Given the description of an element on the screen output the (x, y) to click on. 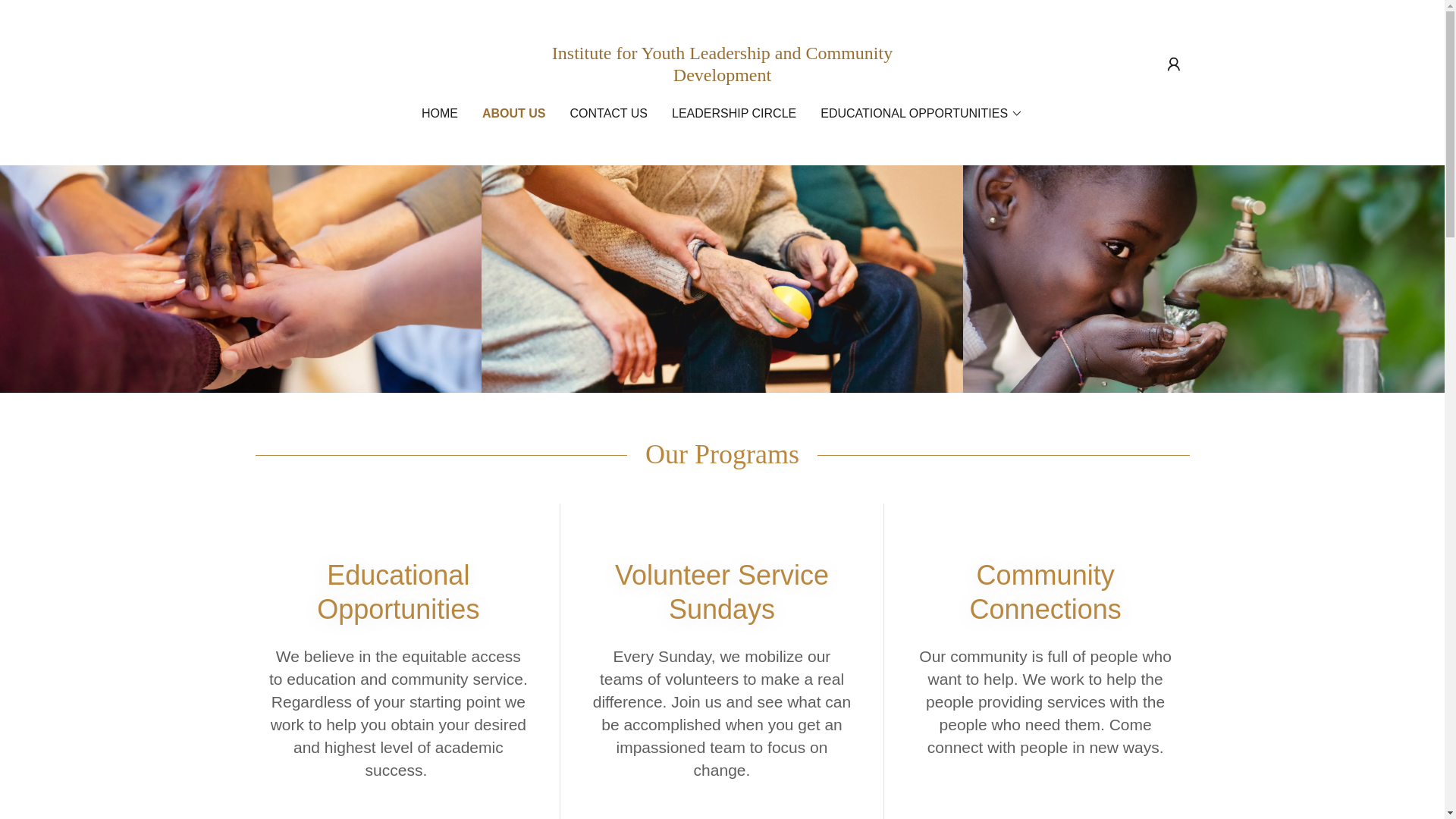
CONTACT US (608, 113)
EDUCATIONAL OPPORTUNITIES (922, 113)
ABOUT US (513, 113)
Institute for Youth Leadership and Community Development (721, 76)
LEADERSHIP CIRCLE (733, 113)
Institute for Youth Leadership and Community Development (721, 76)
HOME (439, 113)
